Given the description of an element on the screen output the (x, y) to click on. 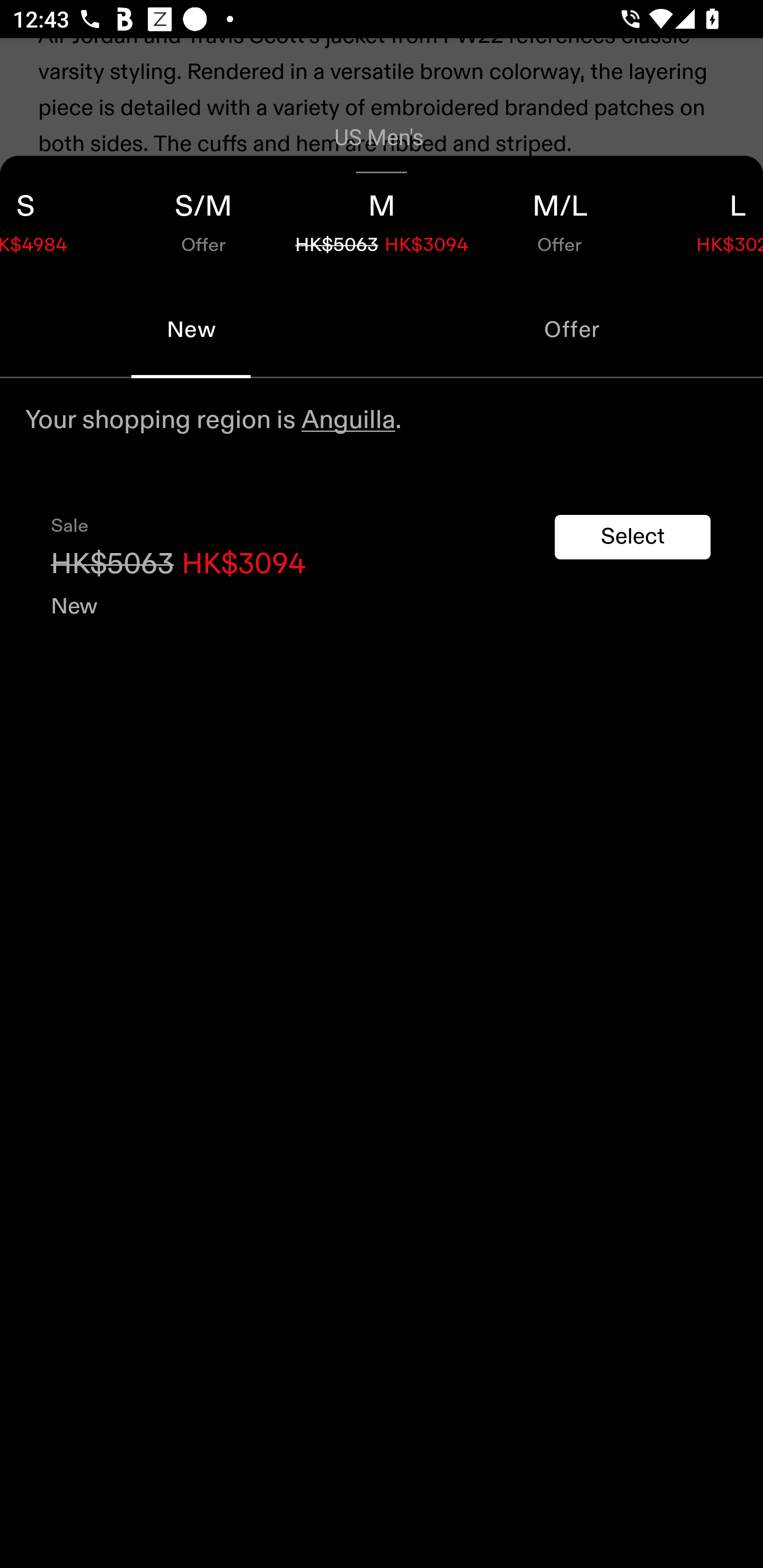
S HK$4984 (57, 218)
S/M Offer (203, 218)
M HK$5063 HK$3094 (381, 218)
M/L Offer (559, 218)
L HK$3022 (705, 218)
Offer (572, 329)
Sell (152, 361)
Select (632, 536)
